Given the description of an element on the screen output the (x, y) to click on. 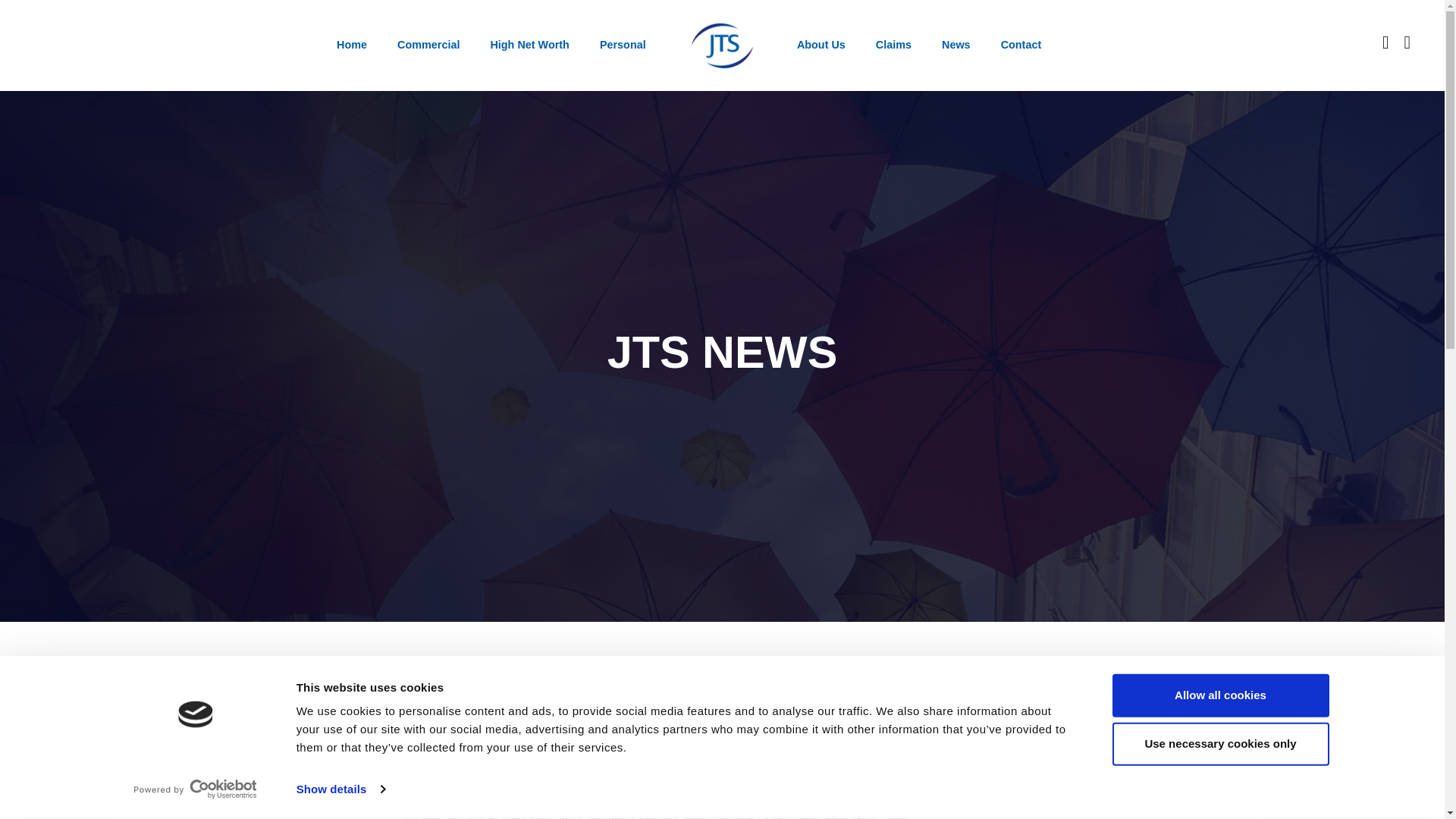
Allow all cookies (1219, 695)
Use necessary cookies only (1219, 743)
Show details (340, 789)
